Given the description of an element on the screen output the (x, y) to click on. 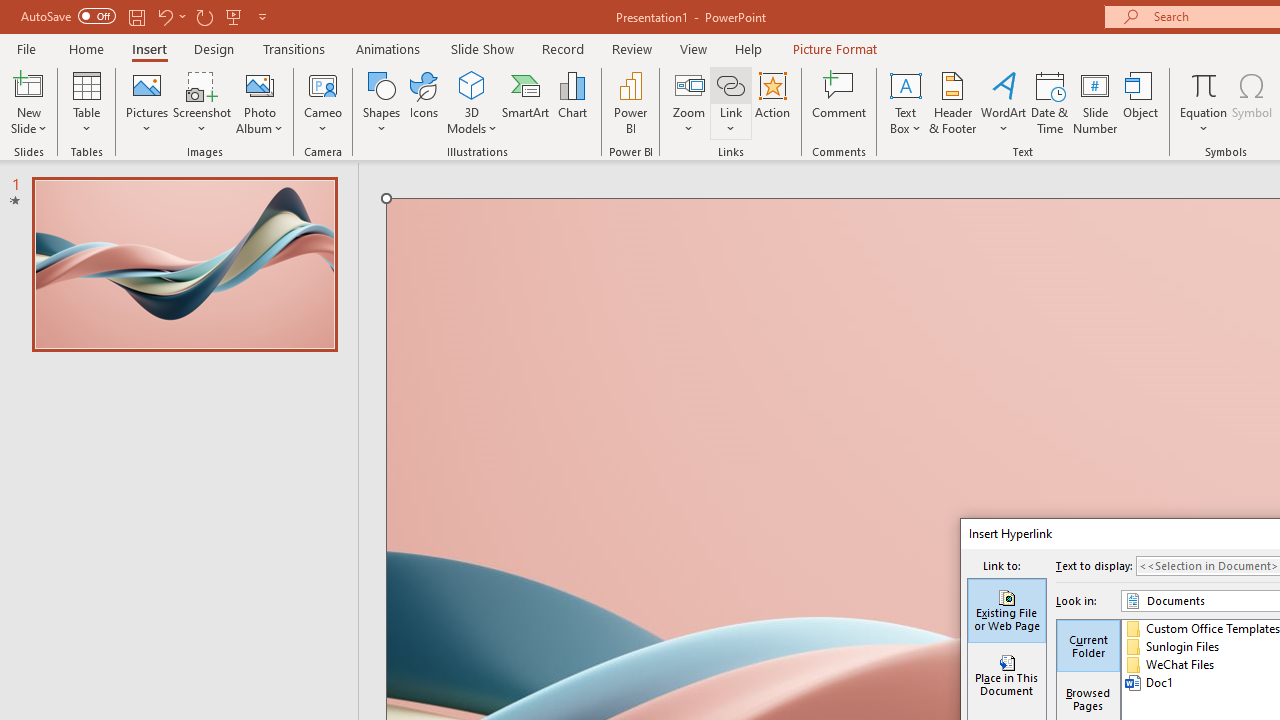
Symbol... (1252, 102)
Comment (839, 102)
Action (772, 102)
Icons (424, 102)
Slide Number (1095, 102)
SmartArt... (525, 102)
Current Folder (1088, 646)
